Given the description of an element on the screen output the (x, y) to click on. 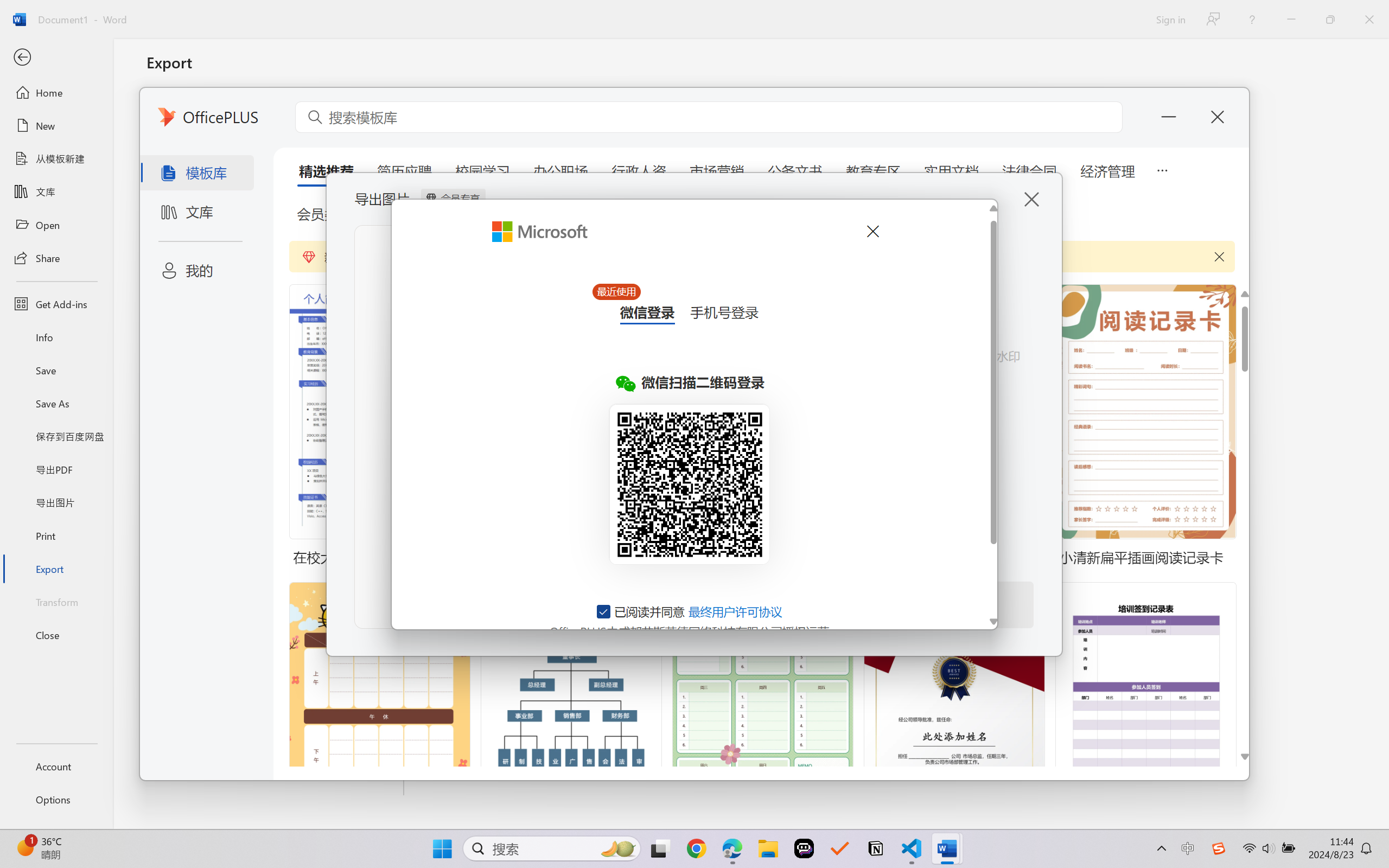
Export (56, 568)
Account (56, 765)
Options (56, 798)
